Given the description of an element on the screen output the (x, y) to click on. 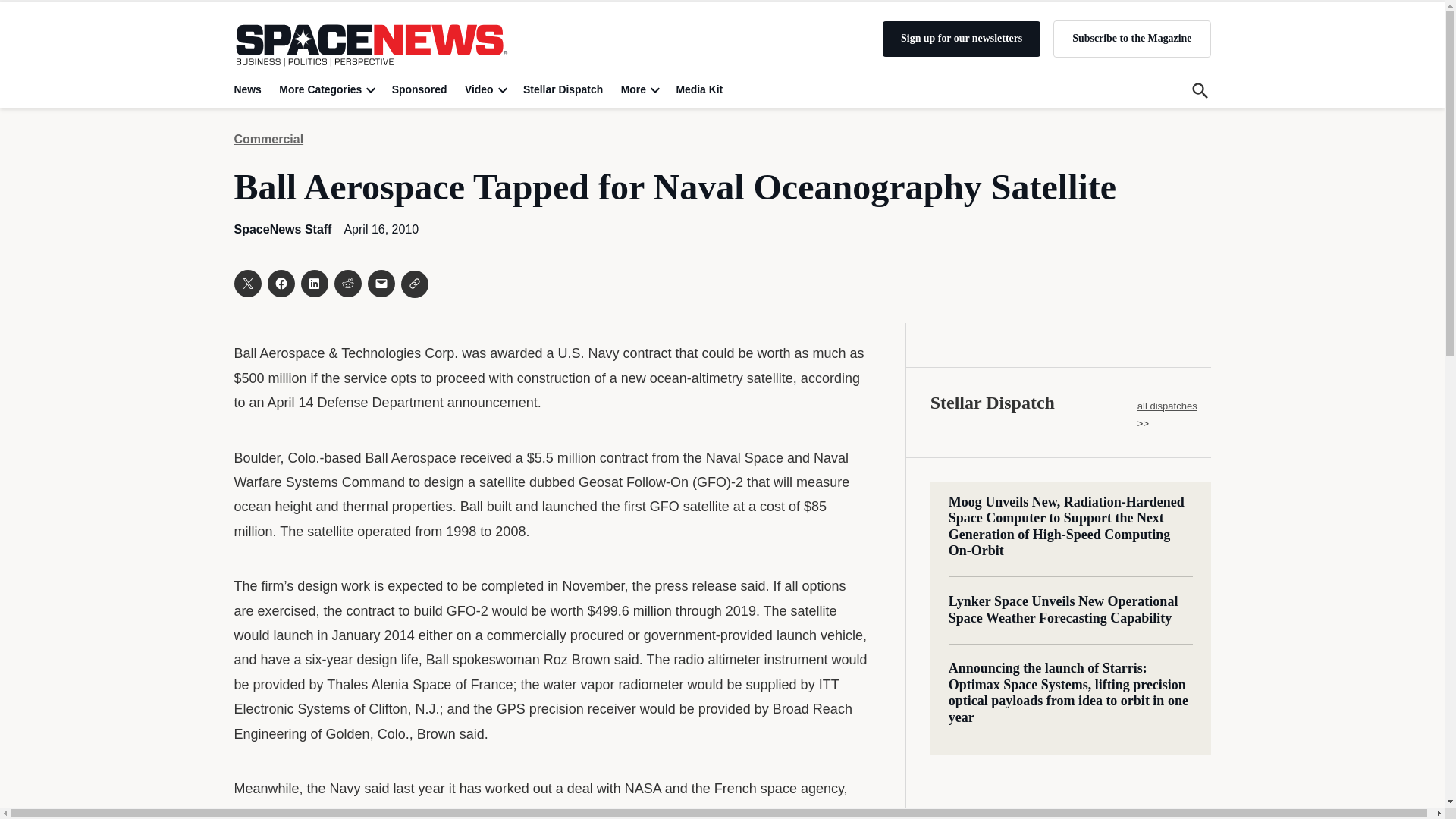
Click to share on Facebook (280, 283)
Click to share on Reddit (347, 283)
Click to share on X (246, 283)
Click to share on Clipboard (414, 284)
Click to email a link to a friend (380, 283)
Sign up for our newsletters (961, 38)
Click to share on LinkedIn (313, 283)
Subscribe to the Magazine (1130, 38)
